Given the description of an element on the screen output the (x, y) to click on. 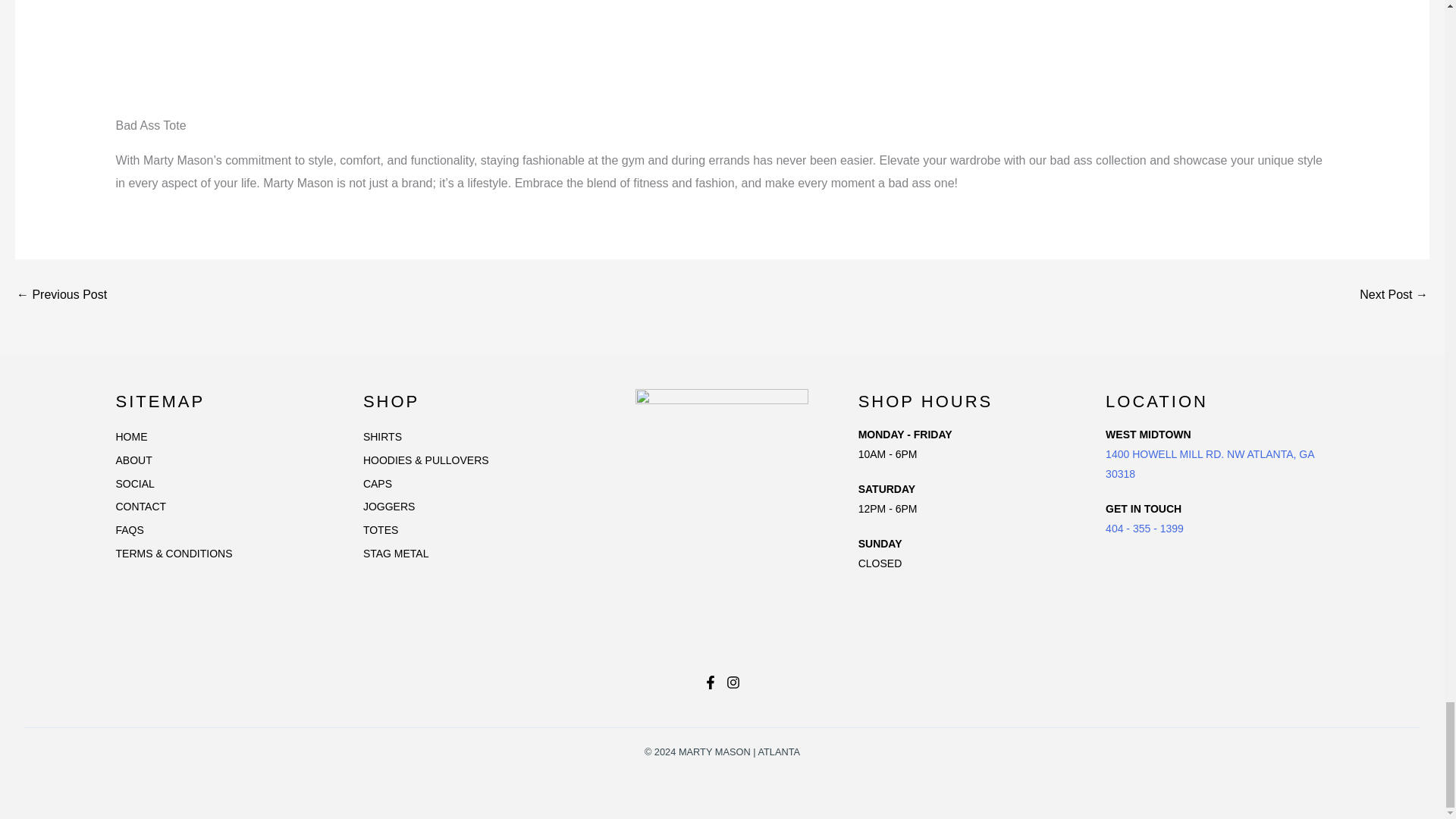
SOCIAL (134, 483)
HOME (131, 436)
ABOUT (133, 460)
What Does Our Stag Logo Represent? (61, 295)
CONTACT (140, 506)
3 Staple Pieces for Your Winter Closet (1393, 295)
